Given the description of an element on the screen output the (x, y) to click on. 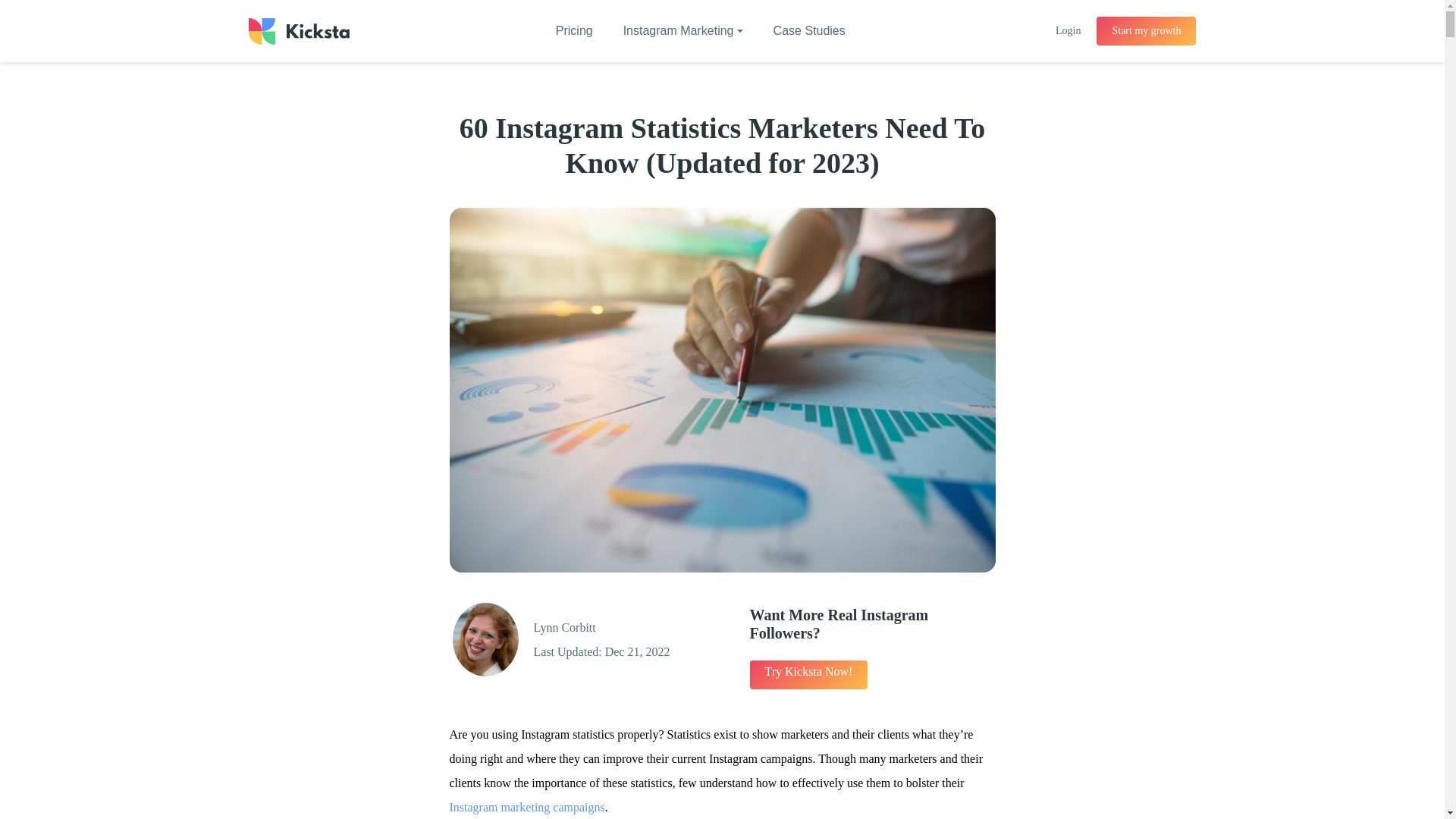
Case Studies (809, 31)
Login (1067, 30)
Try Kicksta Now! (808, 674)
Instagram Marketing (683, 31)
Instagram marketing campaigns (526, 807)
Start my growth (1145, 30)
Pricing (574, 31)
